Given the description of an element on the screen output the (x, y) to click on. 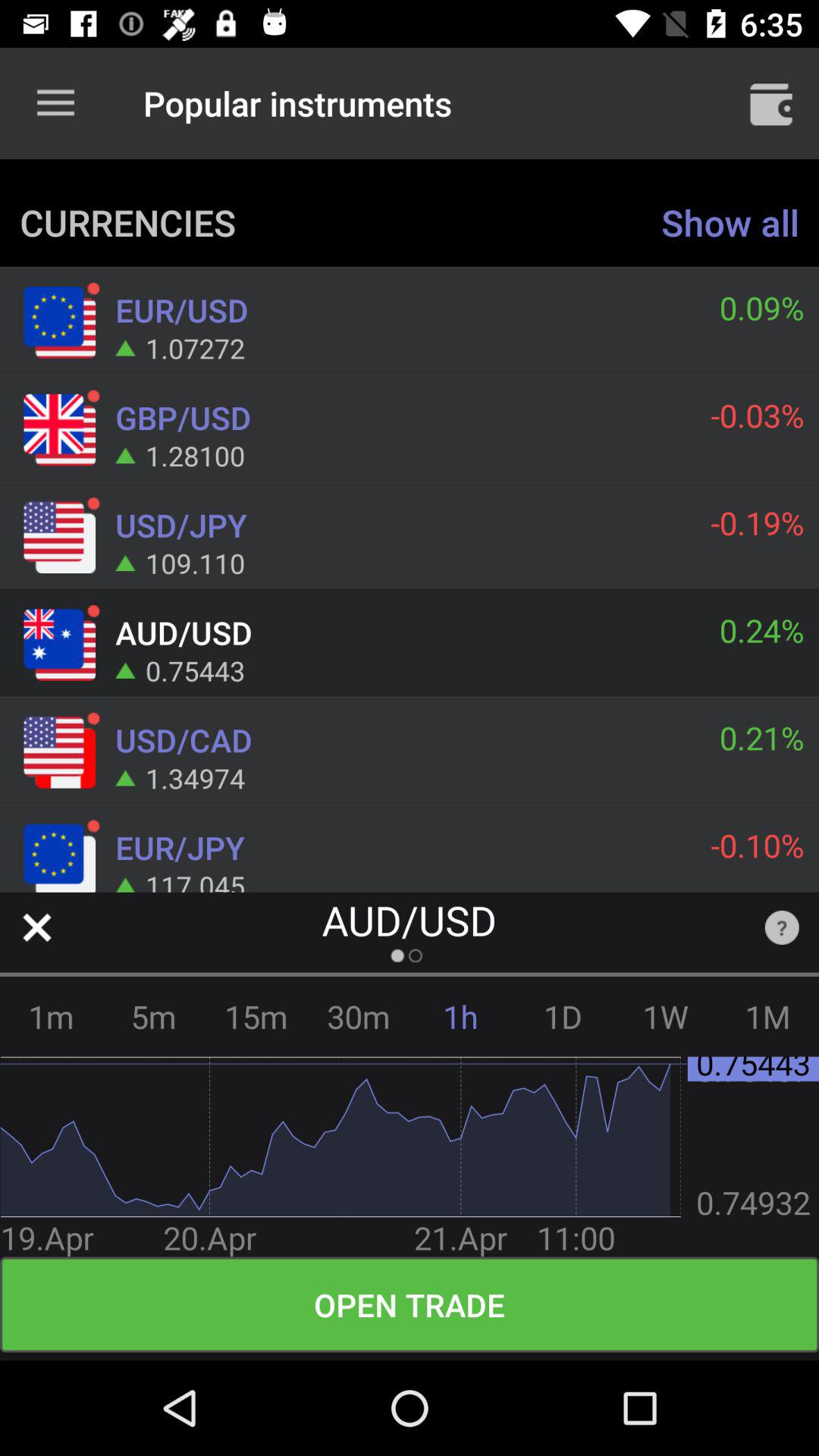
open icon to the left of the 30m item (255, 1016)
